Given the description of an element on the screen output the (x, y) to click on. 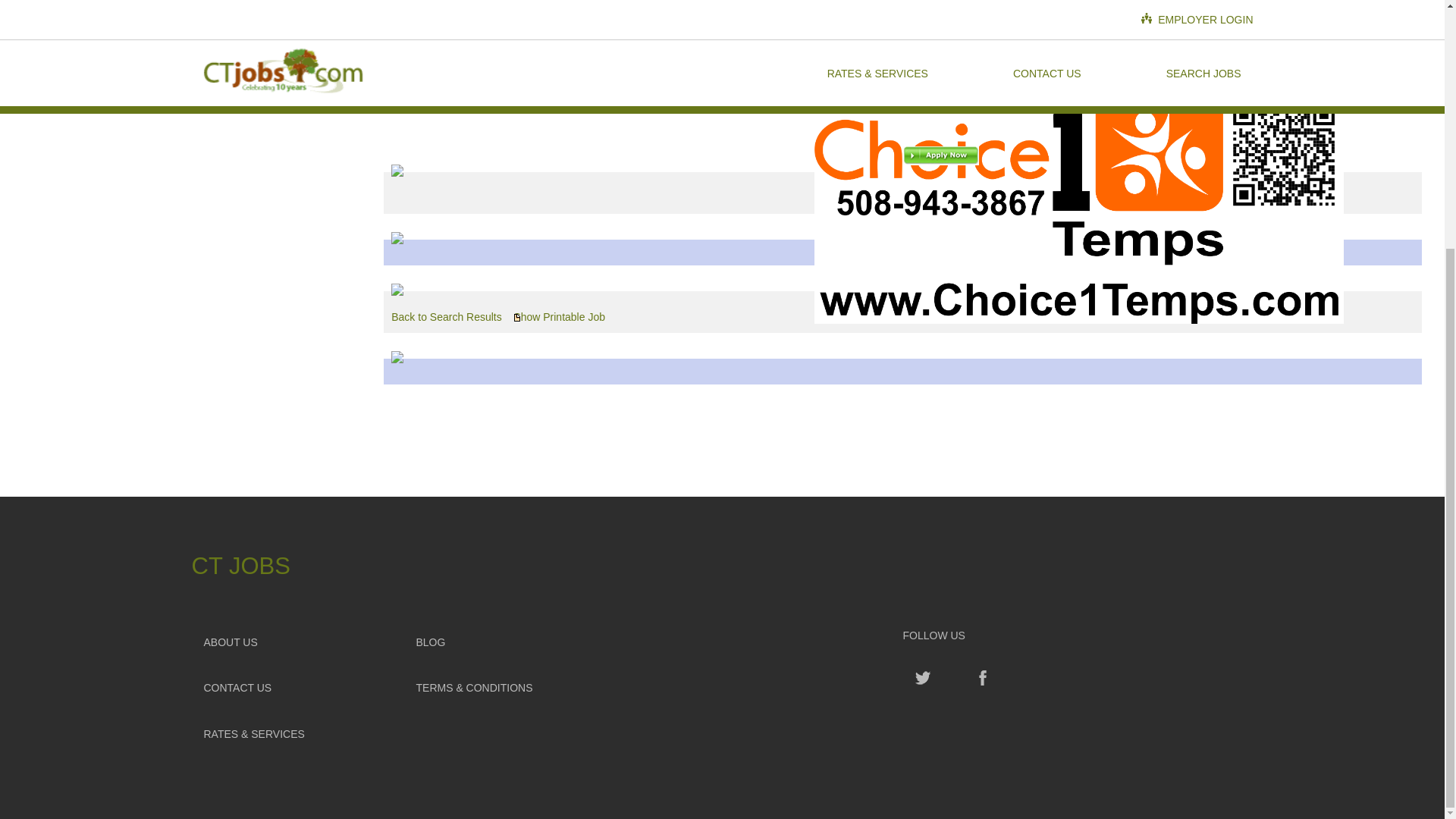
CONTACT US (296, 687)
Back to Search Results (446, 316)
Show Printable Job (559, 316)
ABOUT US (296, 642)
BLOG (509, 642)
